Given the description of an element on the screen output the (x, y) to click on. 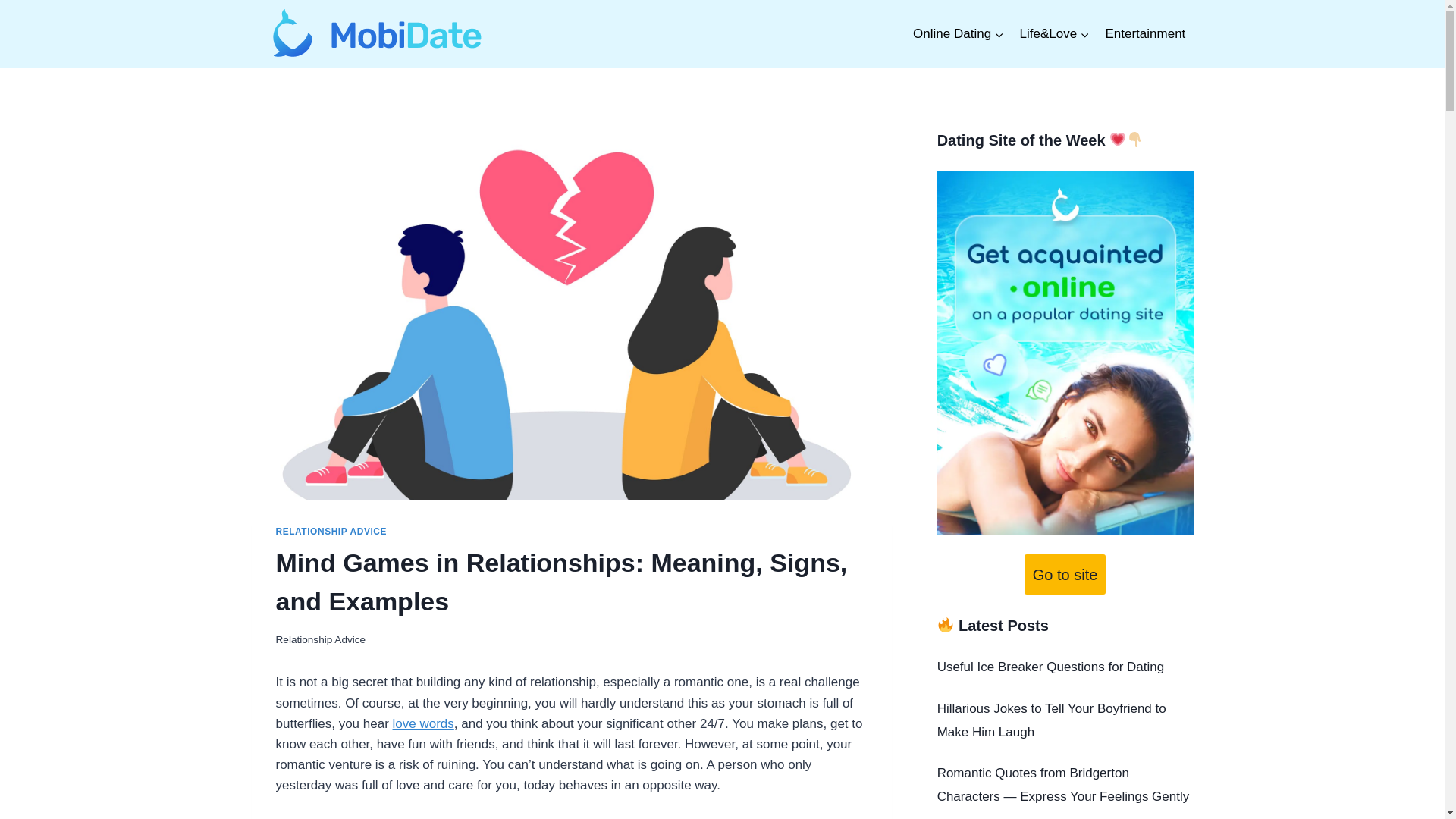
Entertainment (1144, 33)
Online Dating (958, 33)
RELATIONSHIP ADVICE (331, 531)
Relationship Advice (321, 639)
love words (423, 723)
